Given the description of an element on the screen output the (x, y) to click on. 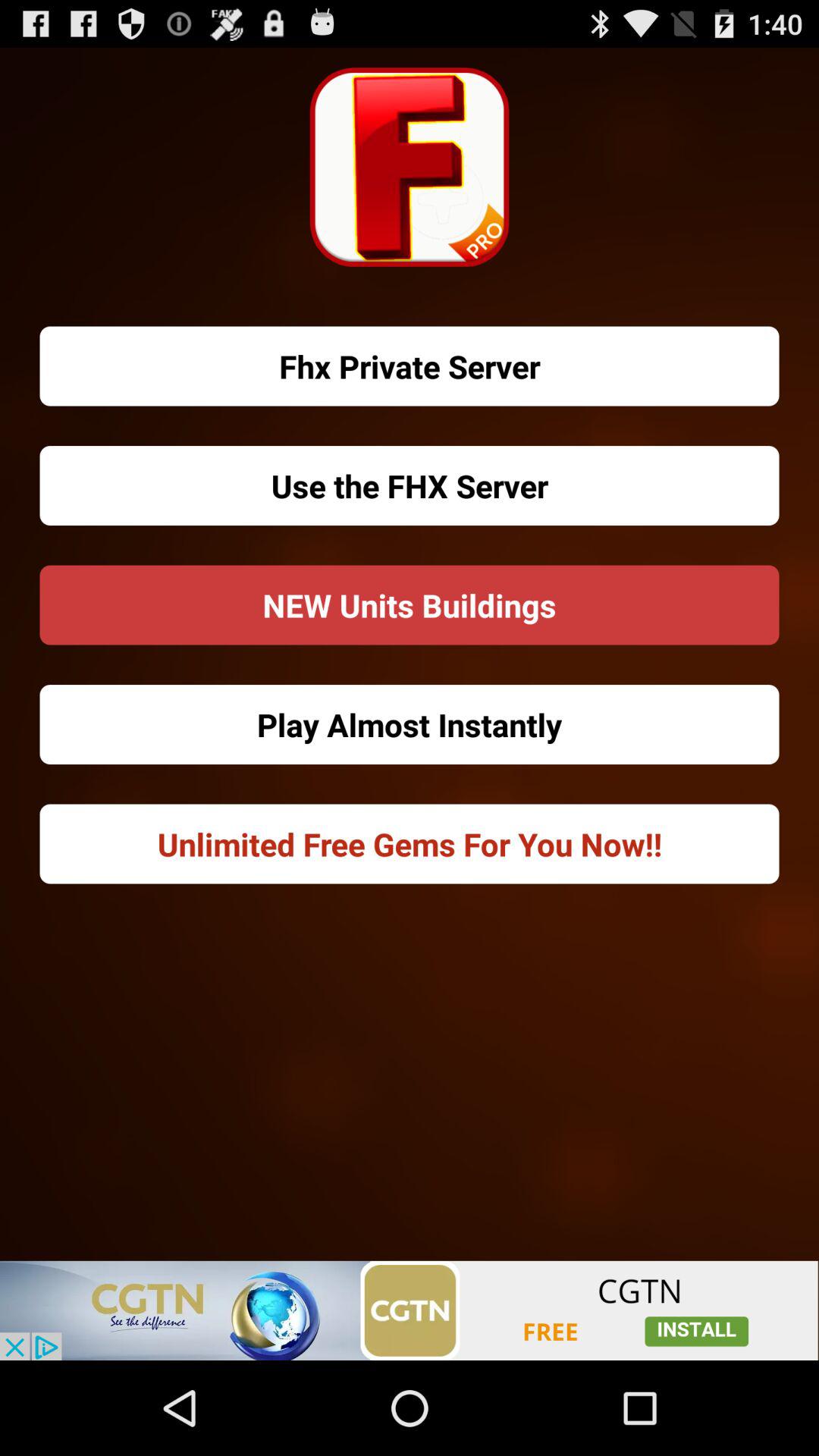
click the add (409, 1310)
